Given the description of an element on the screen output the (x, y) to click on. 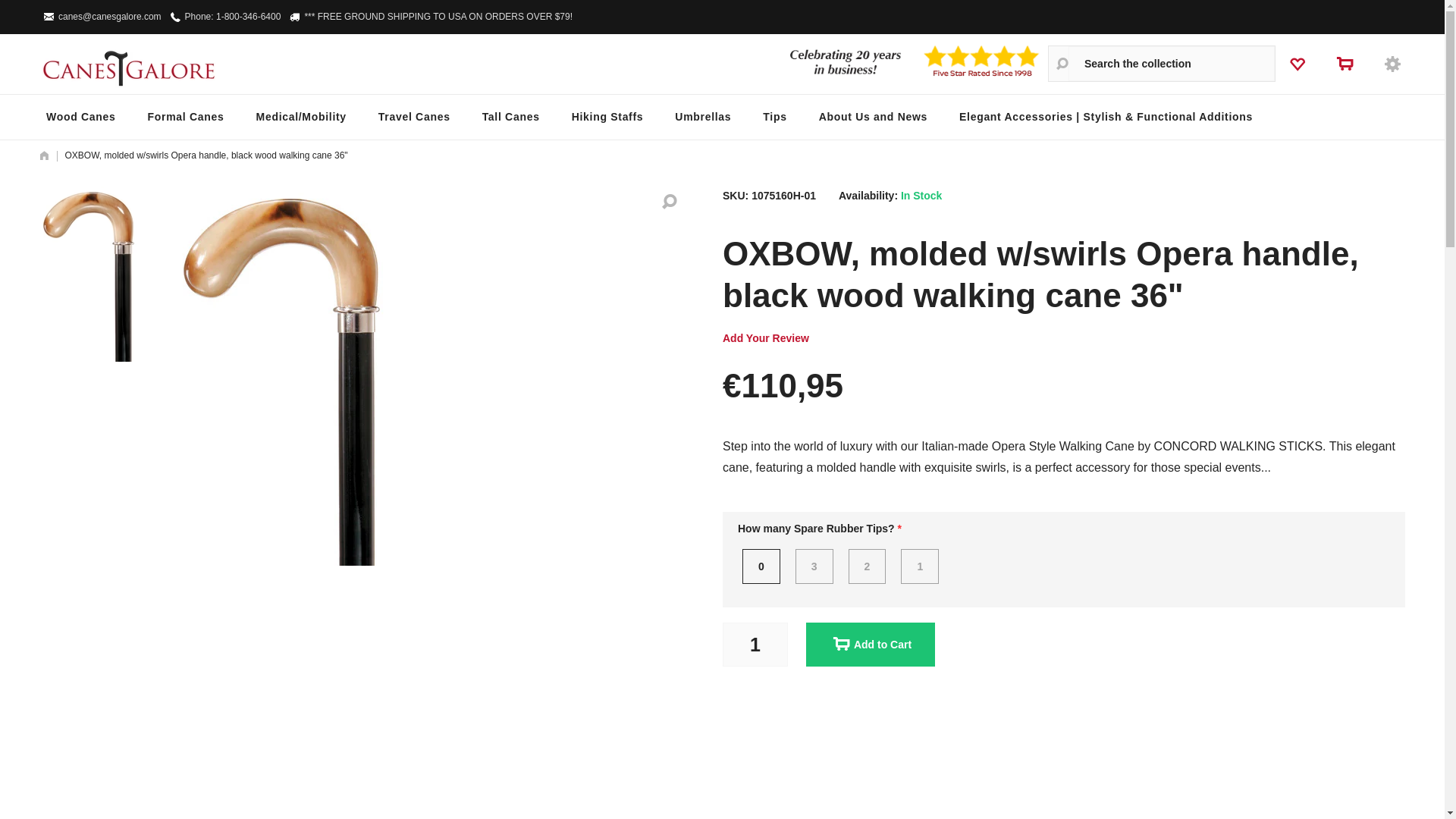
Umbrellas (702, 116)
2 (866, 566)
Wood Canes (81, 116)
Travel Canes (413, 116)
Add Your Review (765, 338)
3 (813, 566)
1 (754, 644)
Add to Cart (869, 644)
Hiking Staffs (607, 116)
Tips (774, 116)
